Given the description of an element on the screen output the (x, y) to click on. 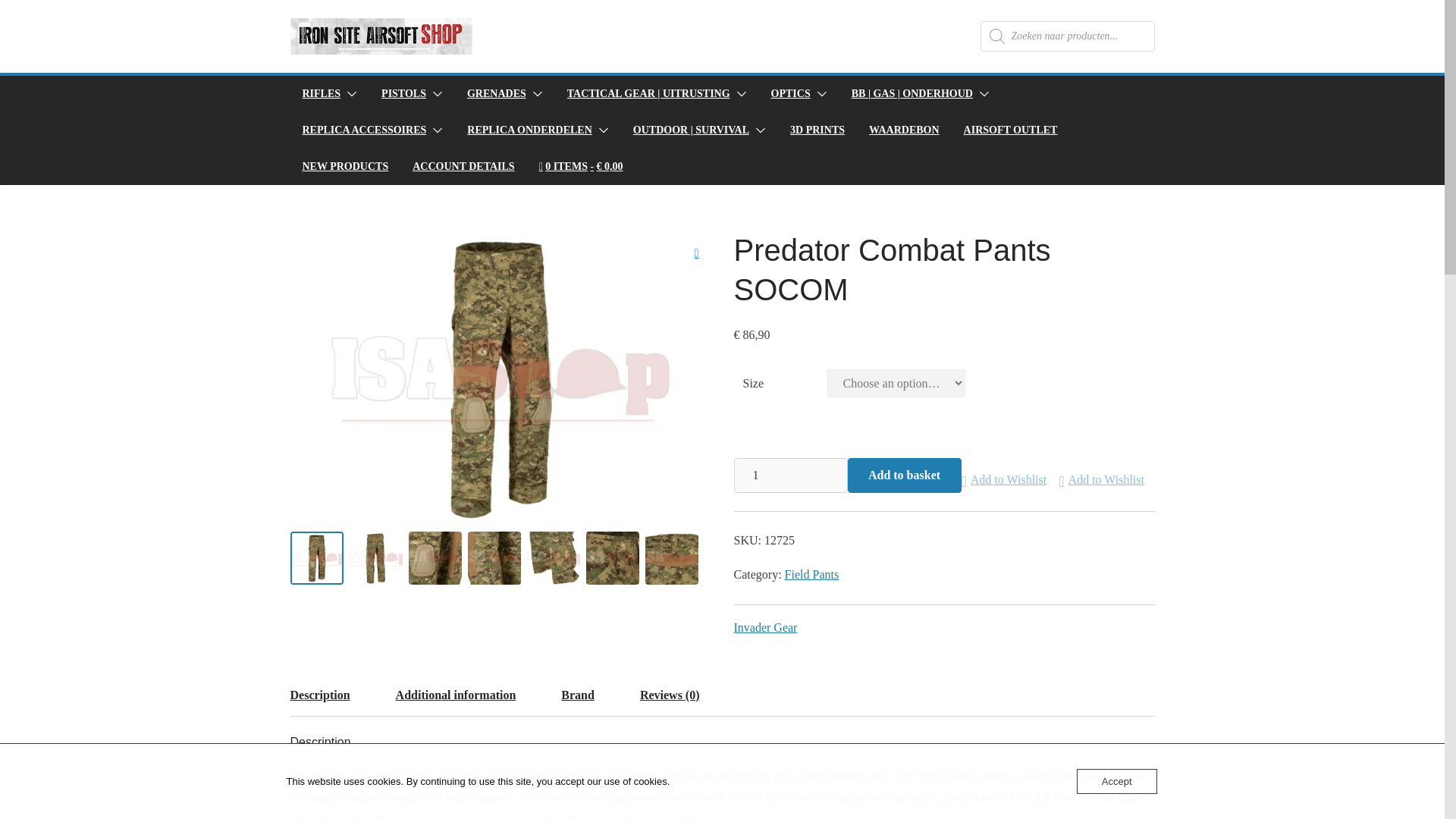
1 (790, 475)
GRENADES (496, 93)
images (499, 377)
Start shopping (580, 166)
RIFLES (320, 93)
View brand (765, 628)
PISTOLS (403, 93)
